Given the description of an element on the screen output the (x, y) to click on. 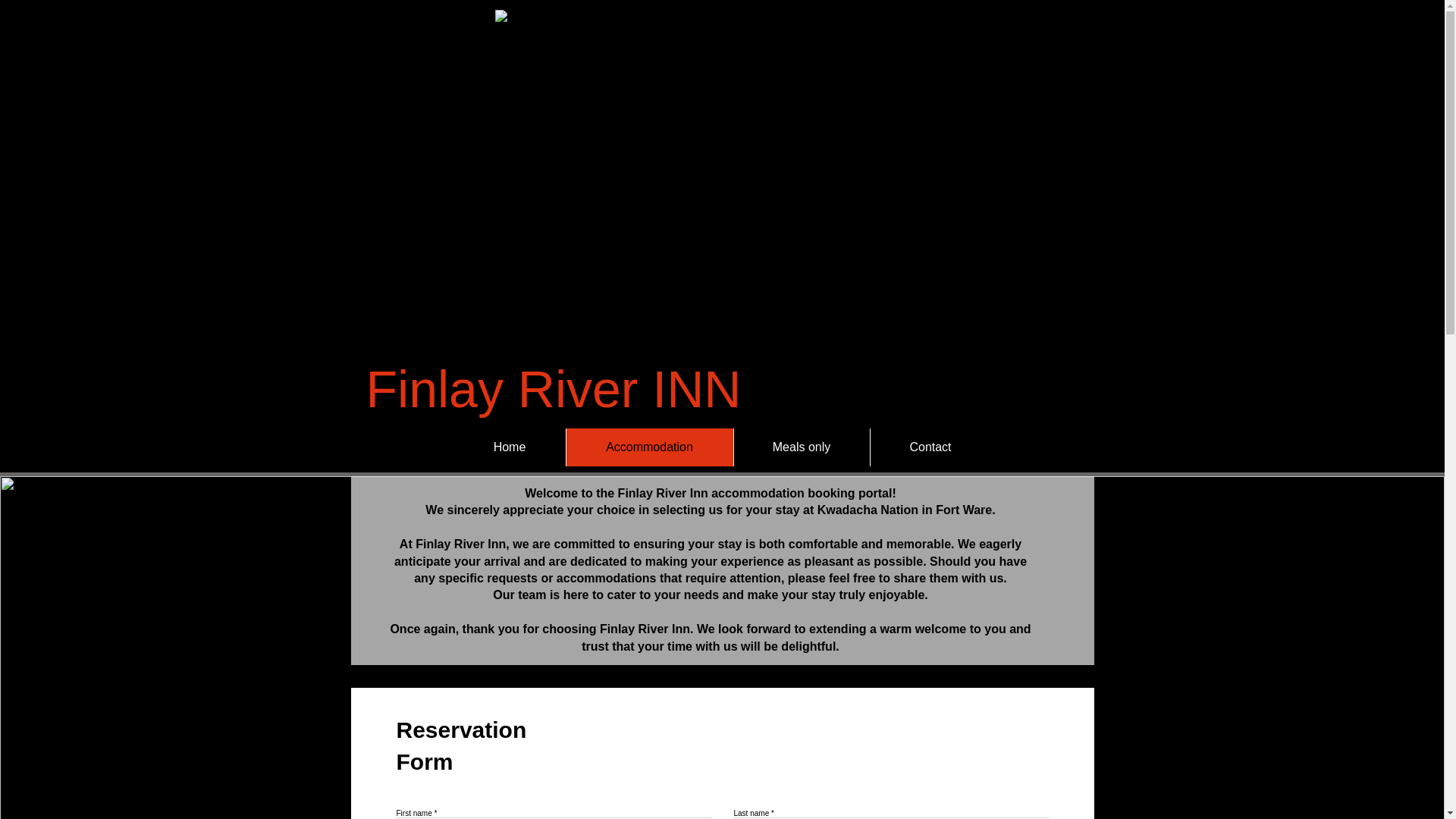
Contact (929, 447)
Home (508, 447)
Accommodation (649, 447)
Meals only (800, 447)
